Given the description of an element on the screen output the (x, y) to click on. 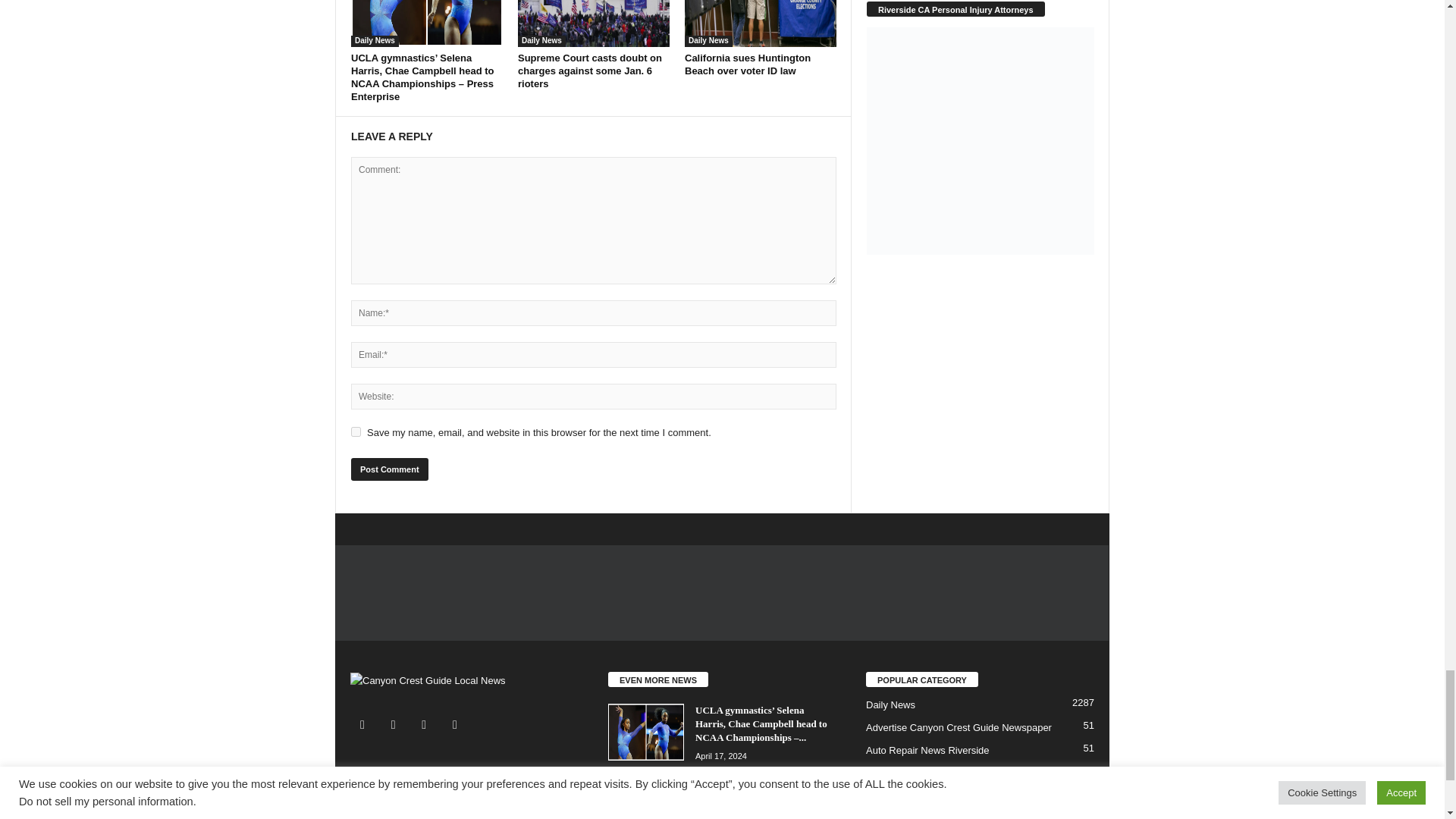
yes (355, 431)
Post Comment (389, 468)
